Given the description of an element on the screen output the (x, y) to click on. 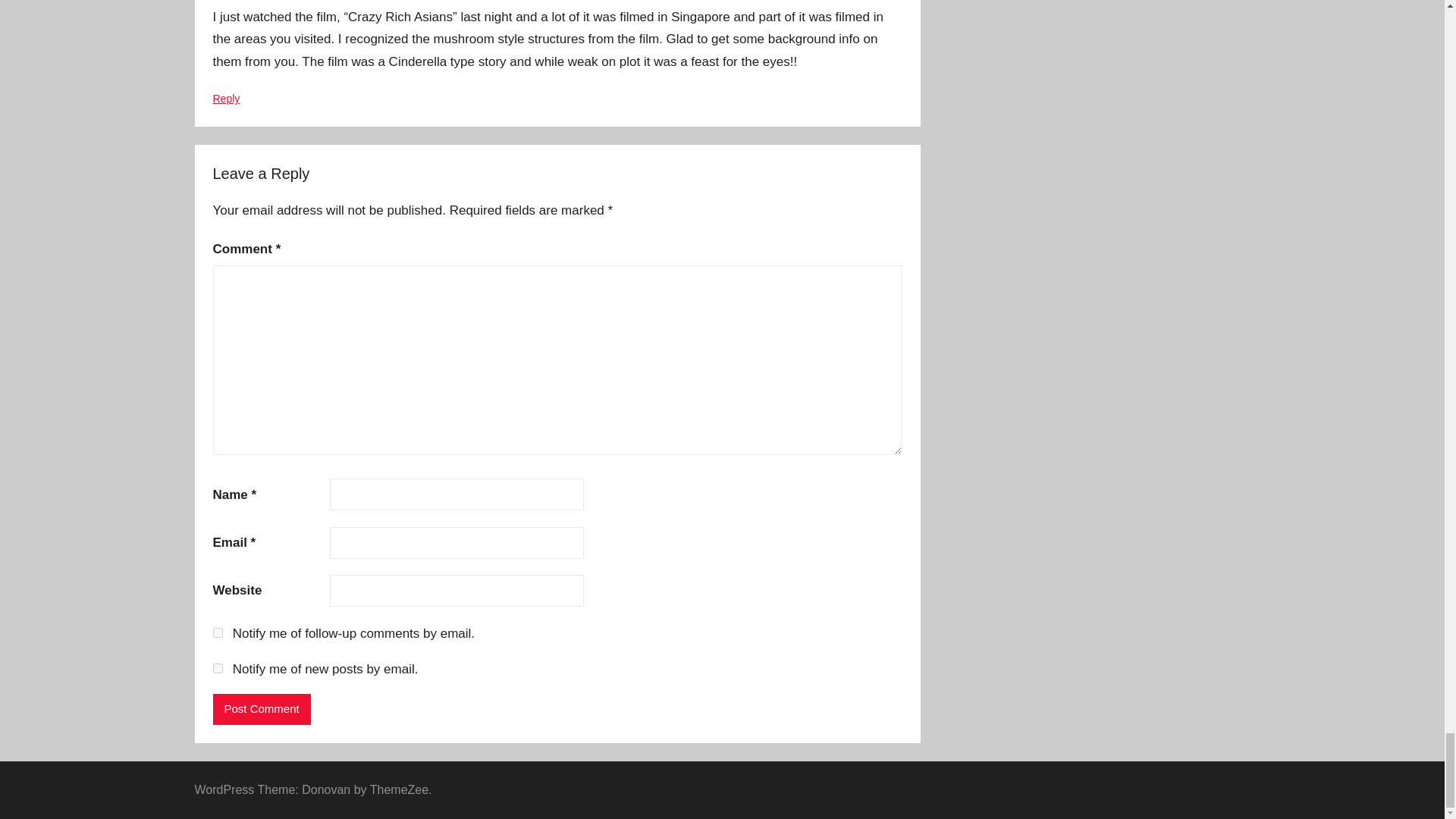
subscribe (217, 633)
subscribe (217, 668)
Post Comment (261, 708)
